Given the description of an element on the screen output the (x, y) to click on. 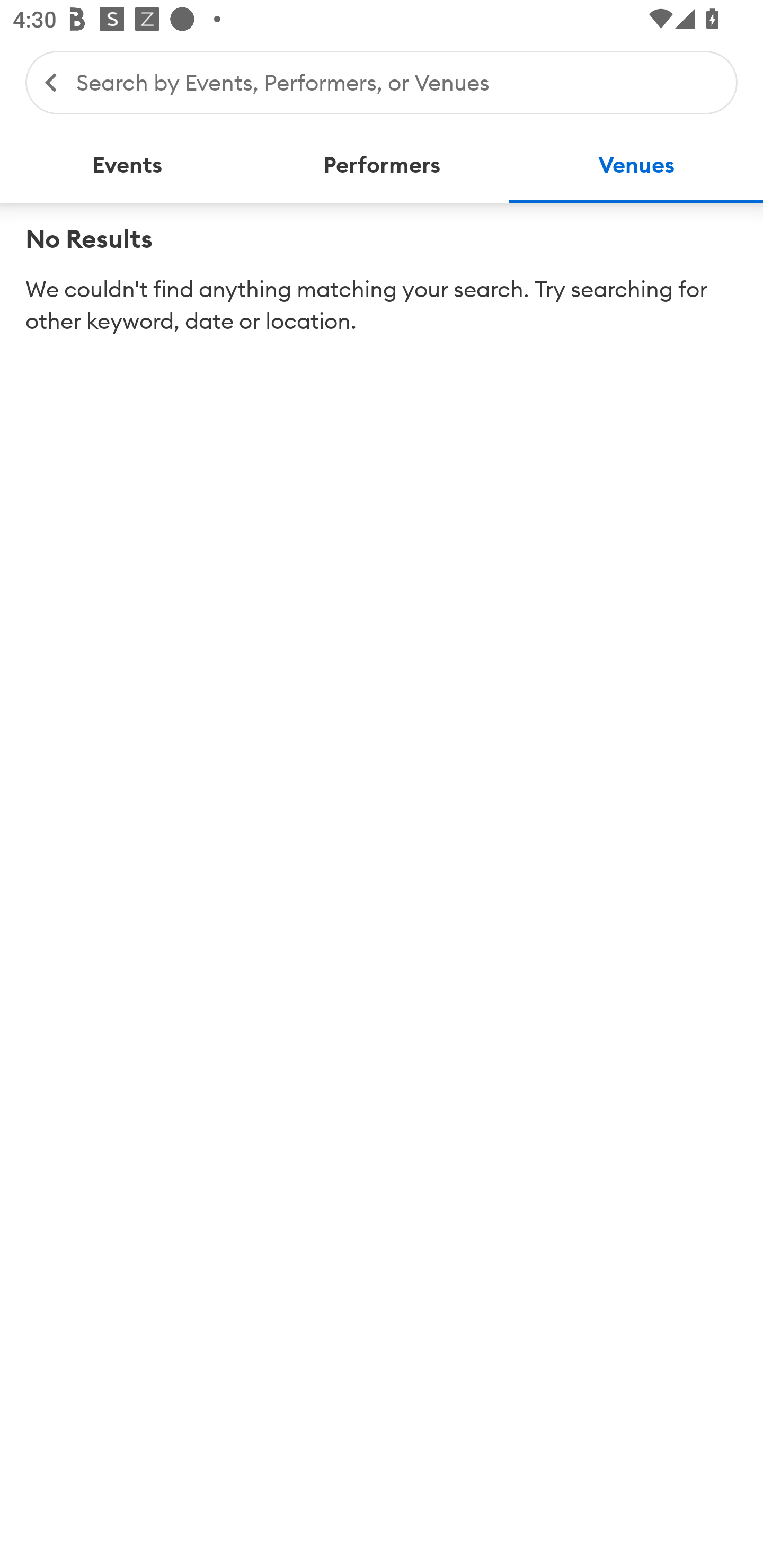
Events (127, 165)
Performers (381, 165)
